Given the description of an element on the screen output the (x, y) to click on. 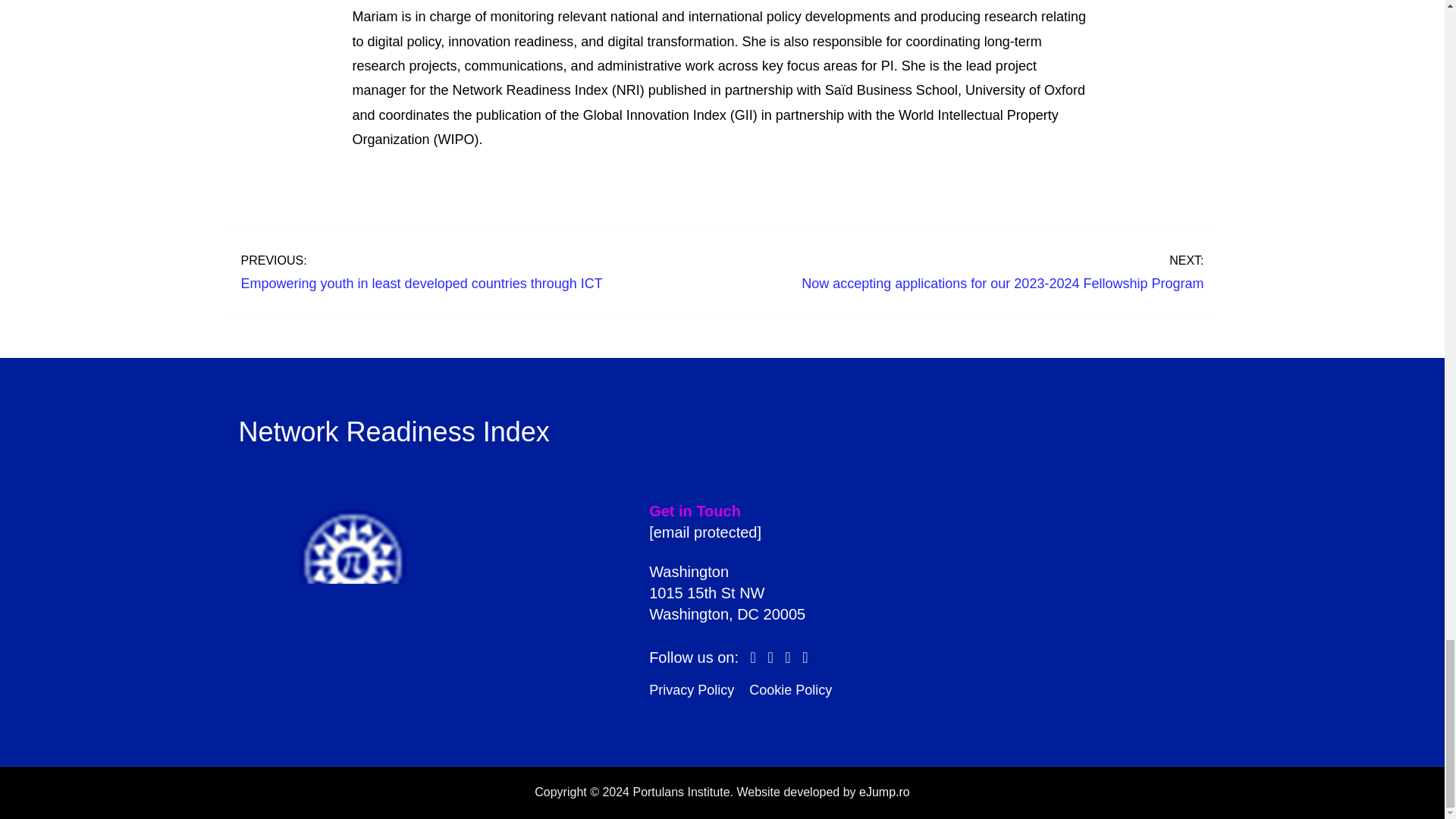
Cookie Policy (790, 689)
eJump.ro (884, 791)
Portulans Institute (351, 601)
Privacy Policy (691, 689)
